Given the description of an element on the screen output the (x, y) to click on. 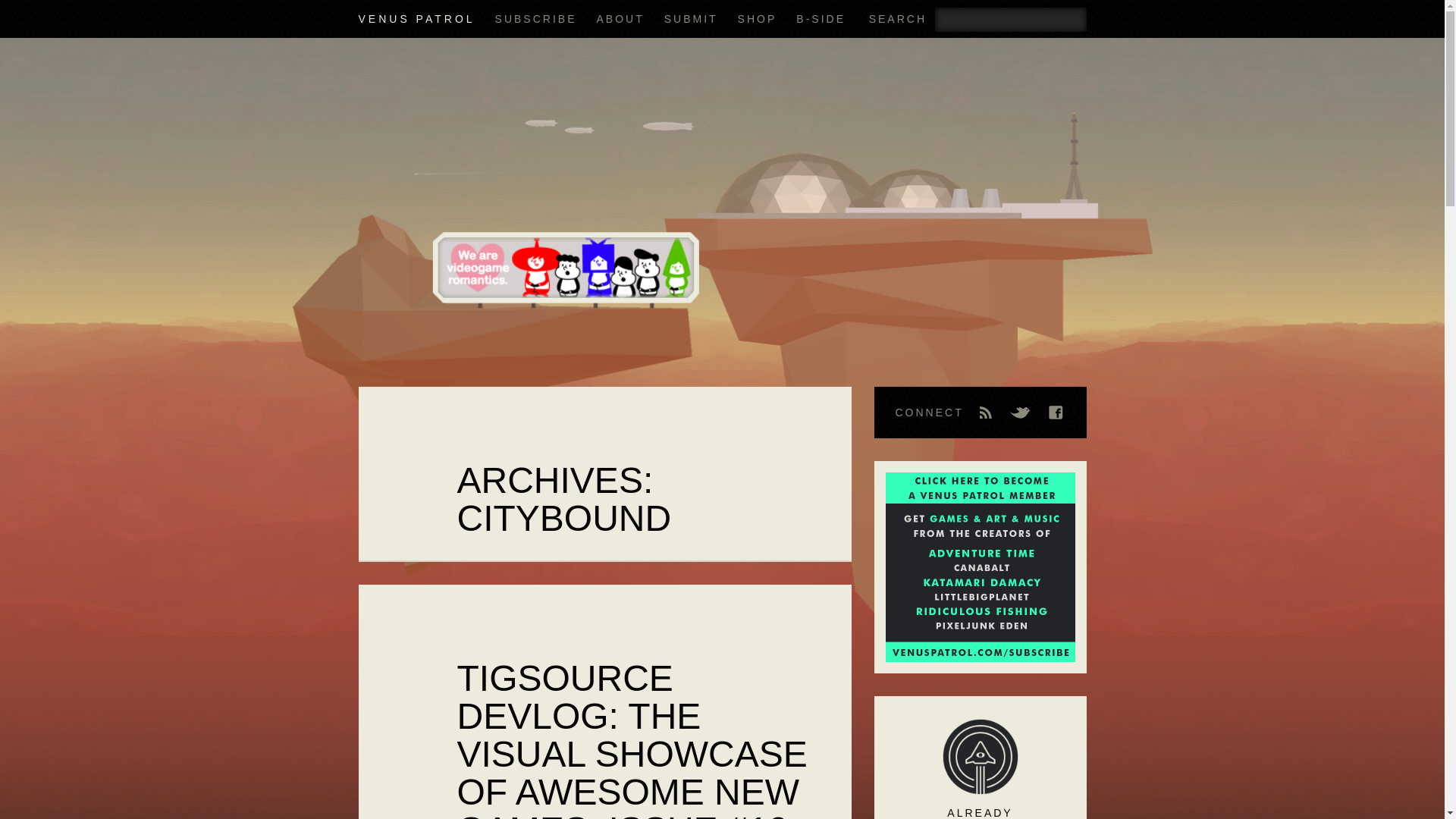
B-SIDE (820, 19)
SUBMIT (690, 19)
SHOP (757, 19)
VENUS PATROL (416, 19)
SUBSCRIBE (535, 19)
ABOUT (619, 19)
